Given the description of an element on the screen output the (x, y) to click on. 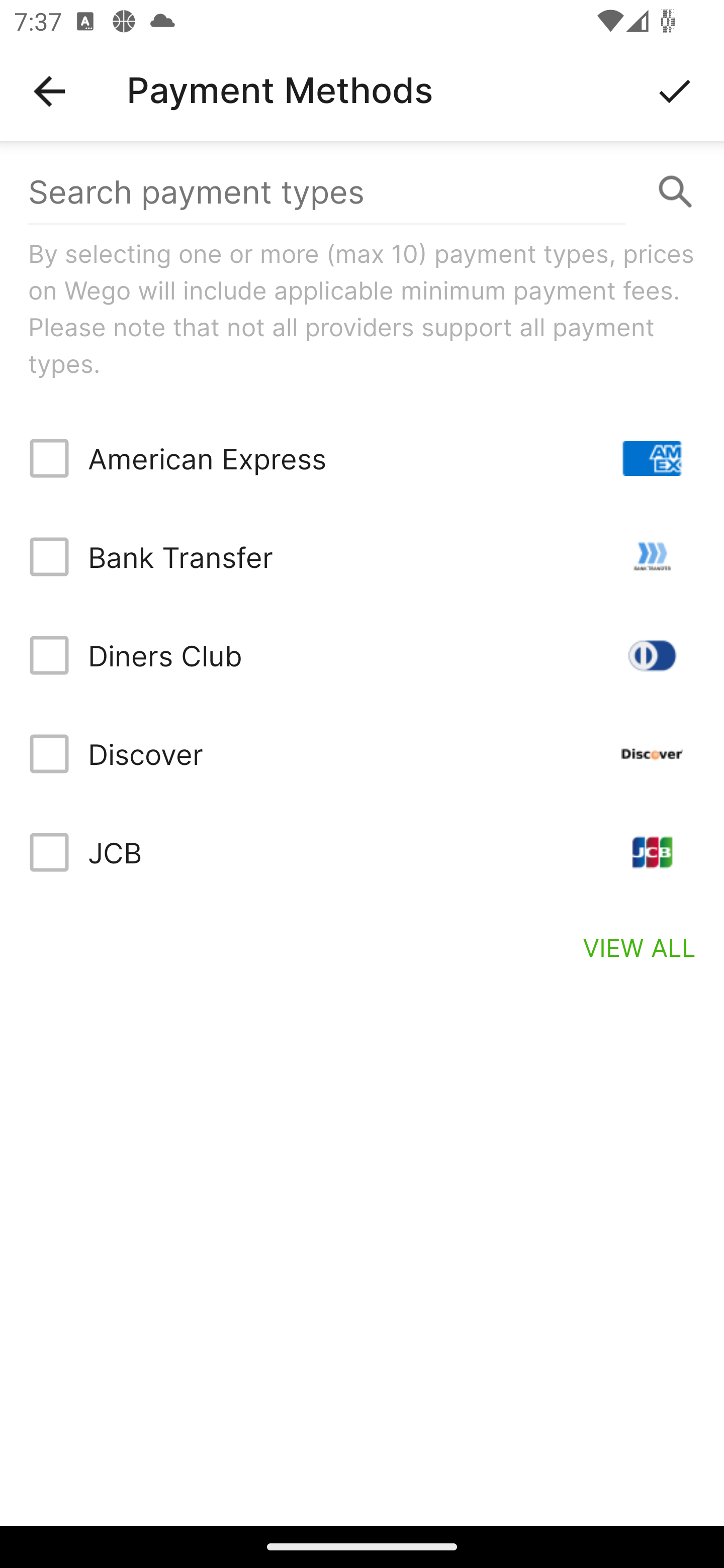
Search payment types  (361, 191)
American Express (362, 458)
Bank Transfer (362, 557)
Diners Club (362, 655)
Discover (362, 753)
JCB (362, 851)
VIEW ALL (639, 946)
